Given the description of an element on the screen output the (x, y) to click on. 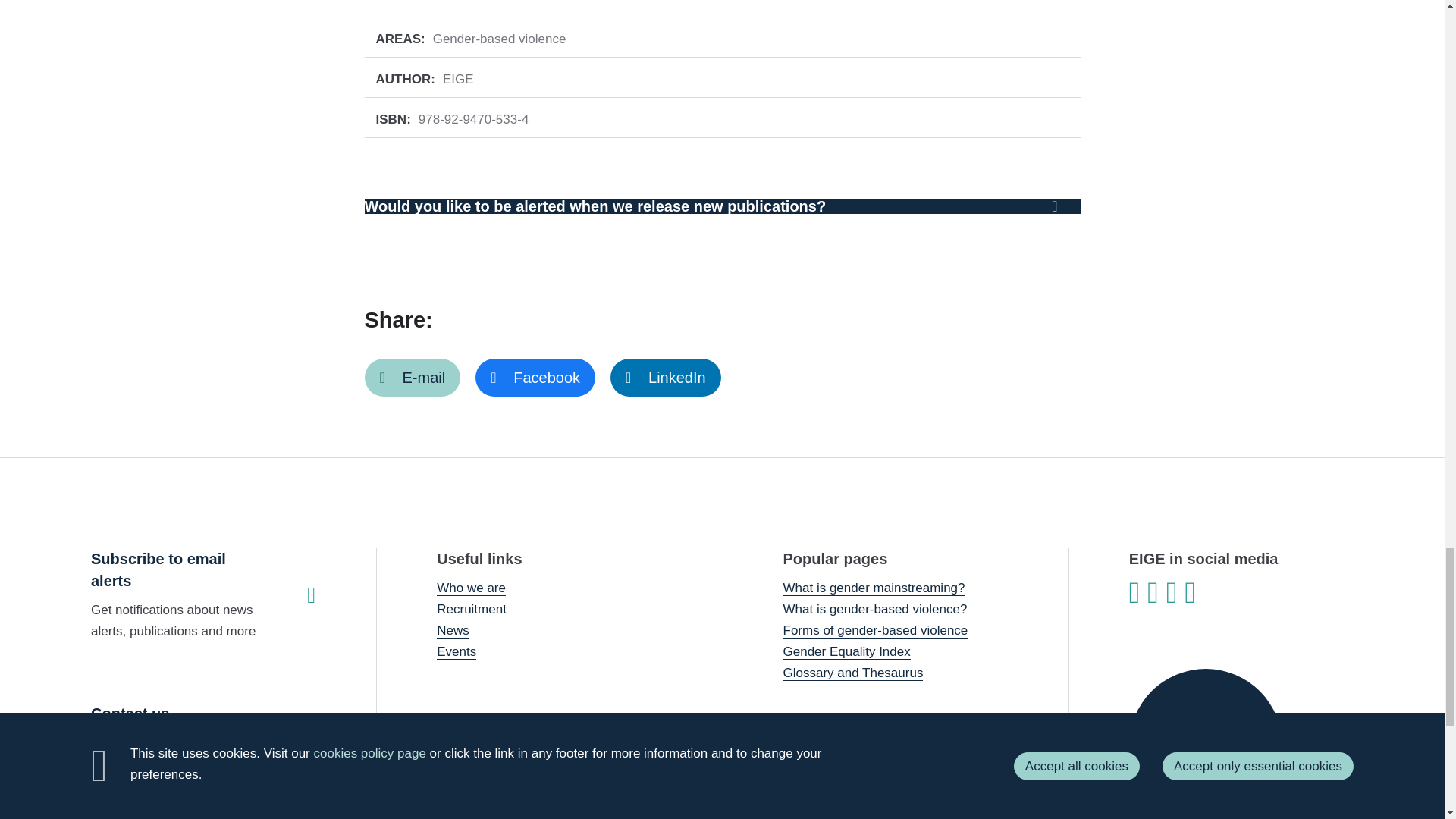
Facebook (535, 377)
E-mail (412, 377)
LinkedIn (665, 377)
